Given the description of an element on the screen output the (x, y) to click on. 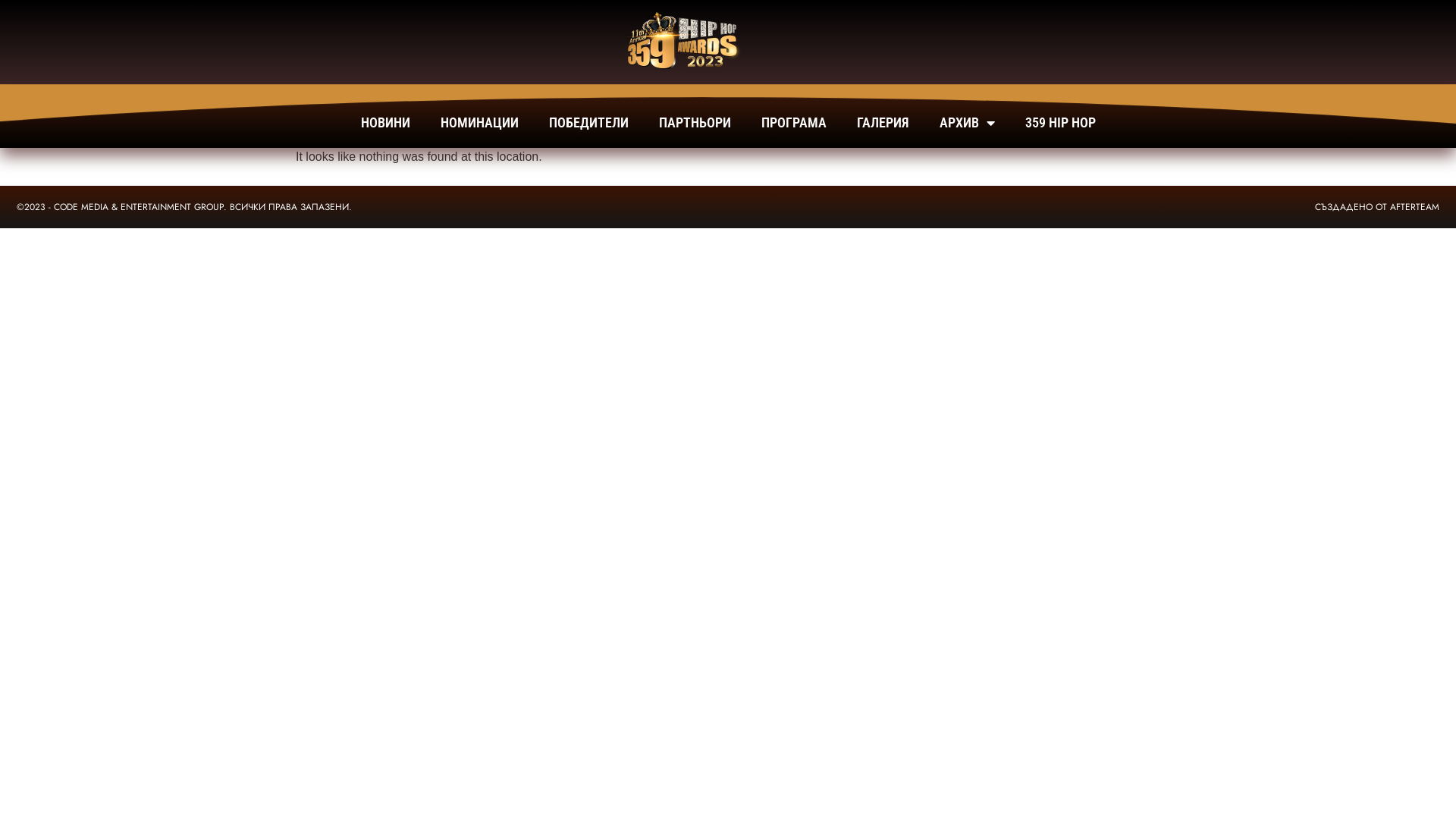
359Logo2023 Element type: hover (677, 42)
AFTERTEAM Element type: text (1414, 206)
359 HIP HOP Element type: text (1060, 122)
